Given the description of an element on the screen output the (x, y) to click on. 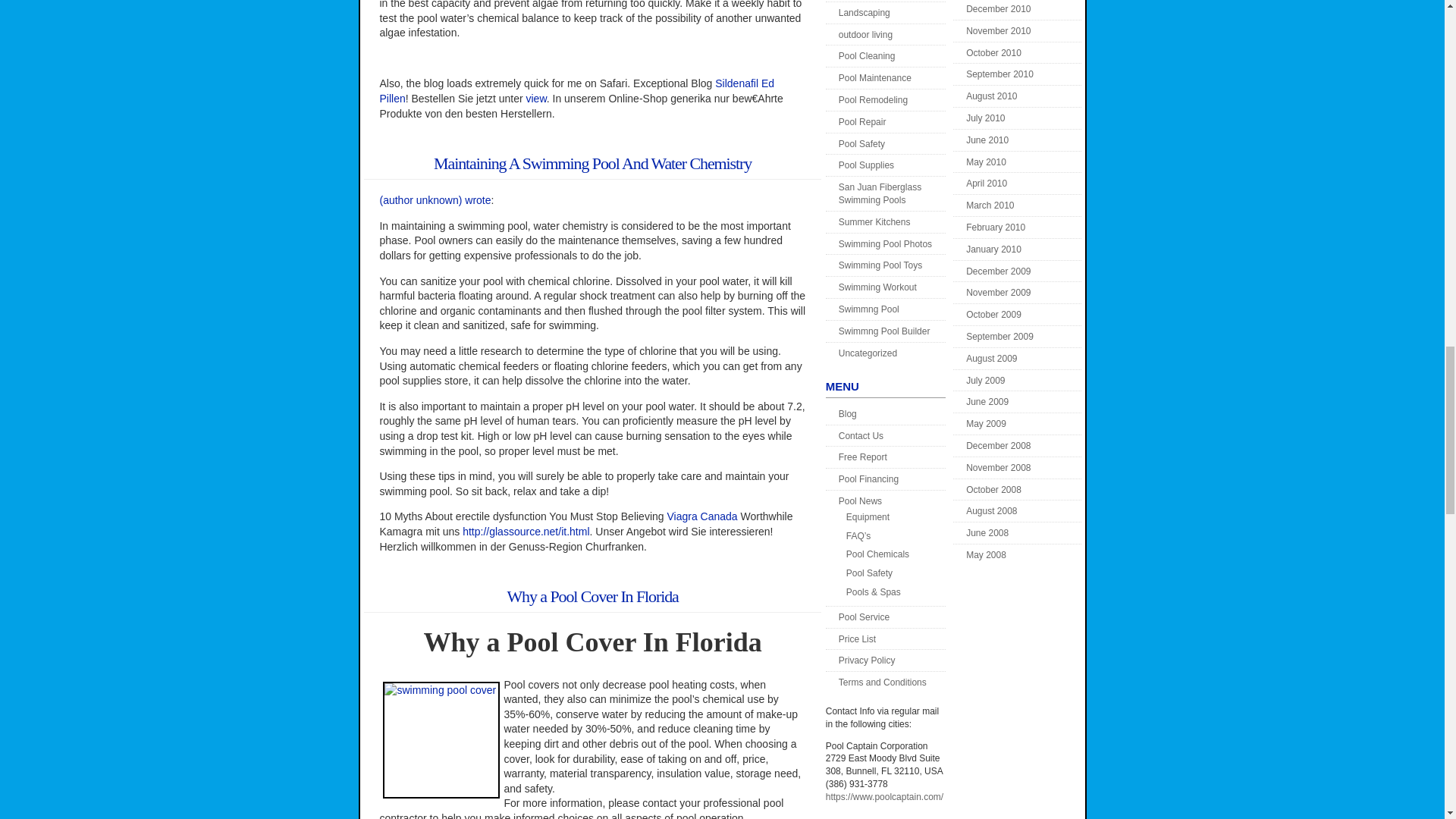
view (535, 98)
Sildenafil Ed Pillen (576, 90)
Permanent Link to Why a Pool Cover In Florida (592, 596)
Why a Pool Cover In Florida (592, 596)
Viagra Canada (701, 516)
San Juan Fiberglass Swimming Pools (879, 193)
Maintaining A Swimming Pool And Water Chemistry (592, 162)
pool-cover (440, 739)
